Given the description of an element on the screen output the (x, y) to click on. 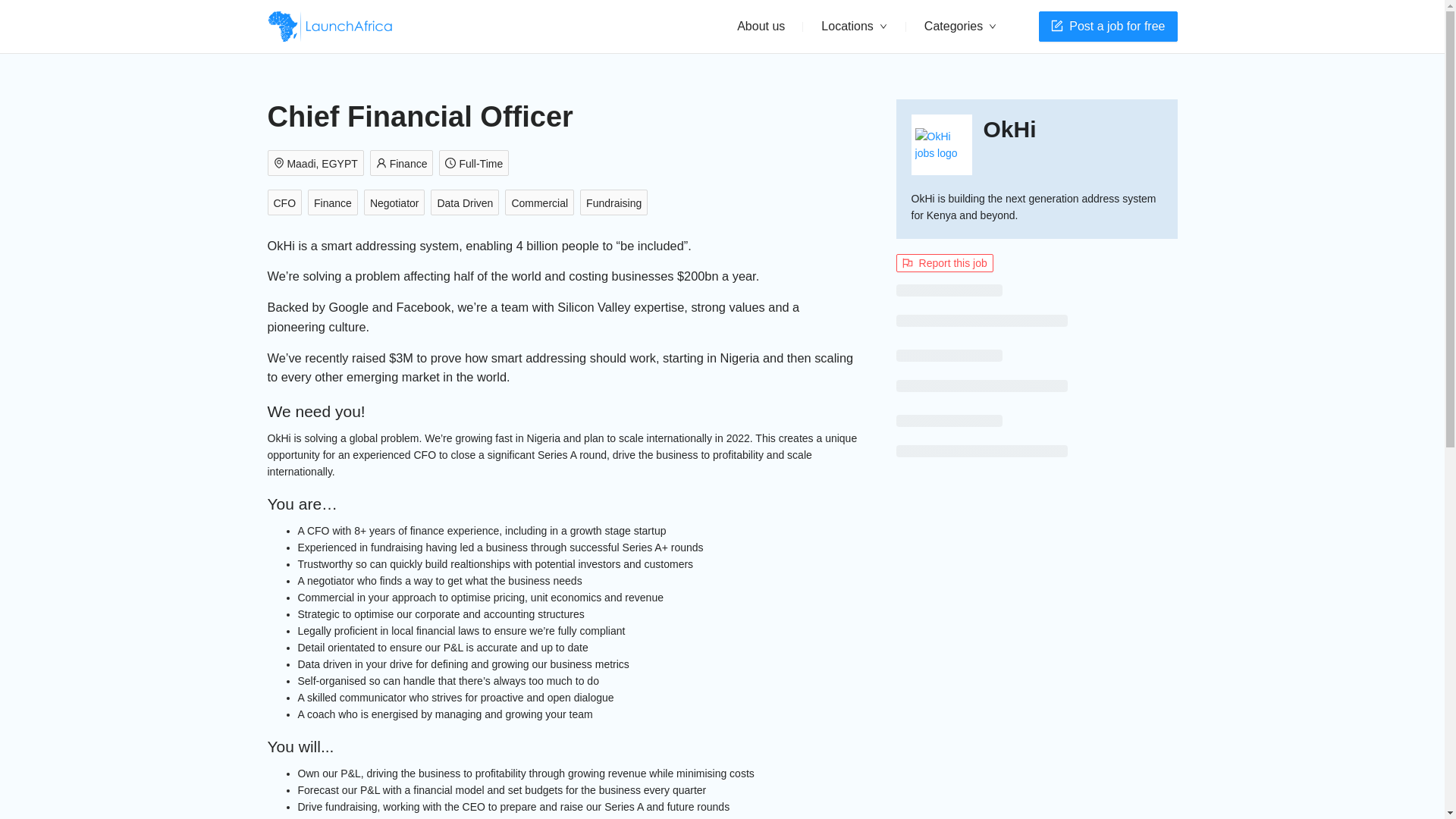
Maadi, EGYPT (317, 163)
Fundraising (616, 203)
OkHi (1010, 129)
Finance (335, 203)
About us (760, 25)
Report this job post (944, 262)
CFO (286, 203)
Locations (854, 26)
Categories (960, 26)
Negotiator (397, 203)
